Given the description of an element on the screen output the (x, y) to click on. 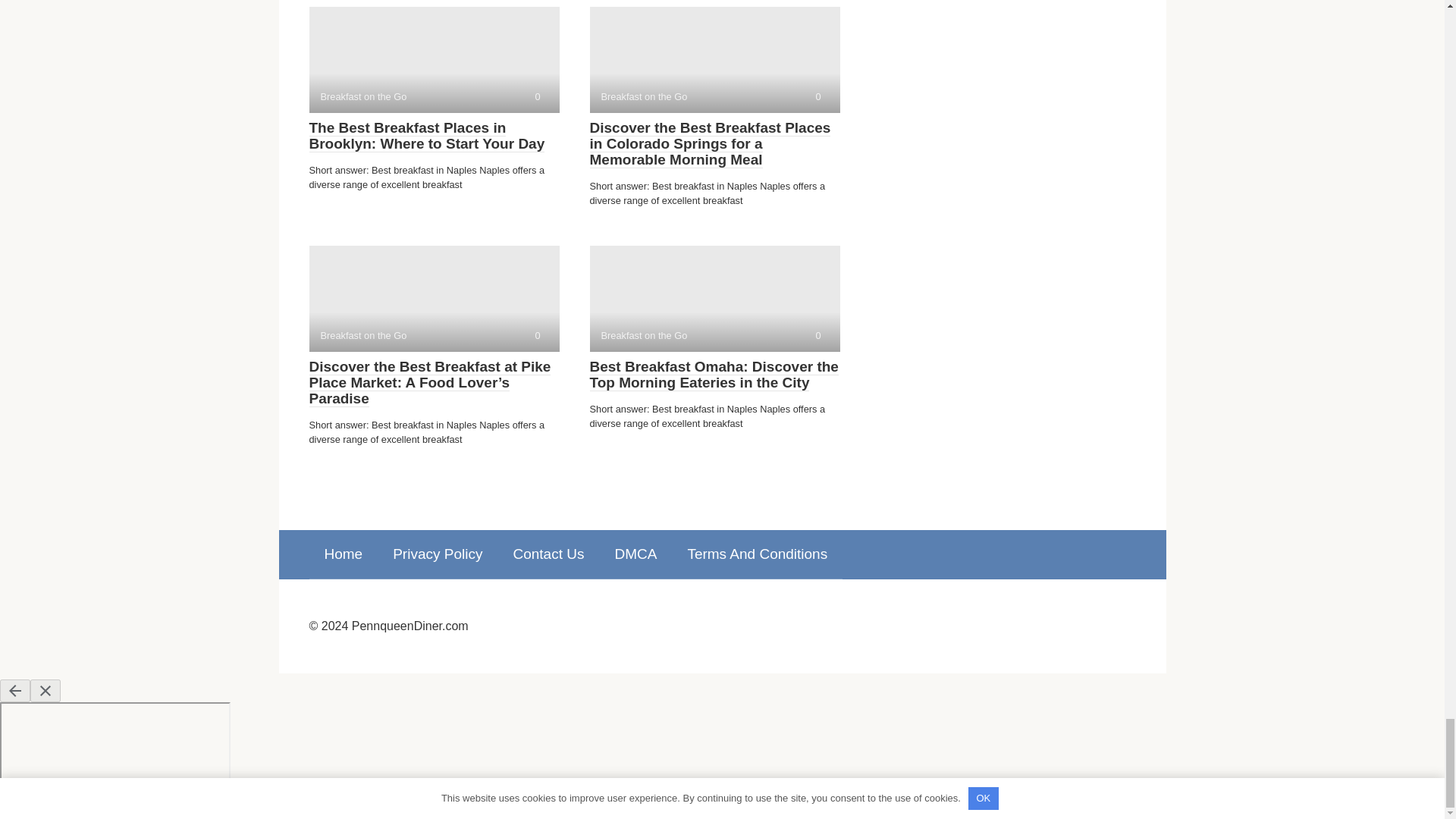
Home (433, 59)
